Given the description of an element on the screen output the (x, y) to click on. 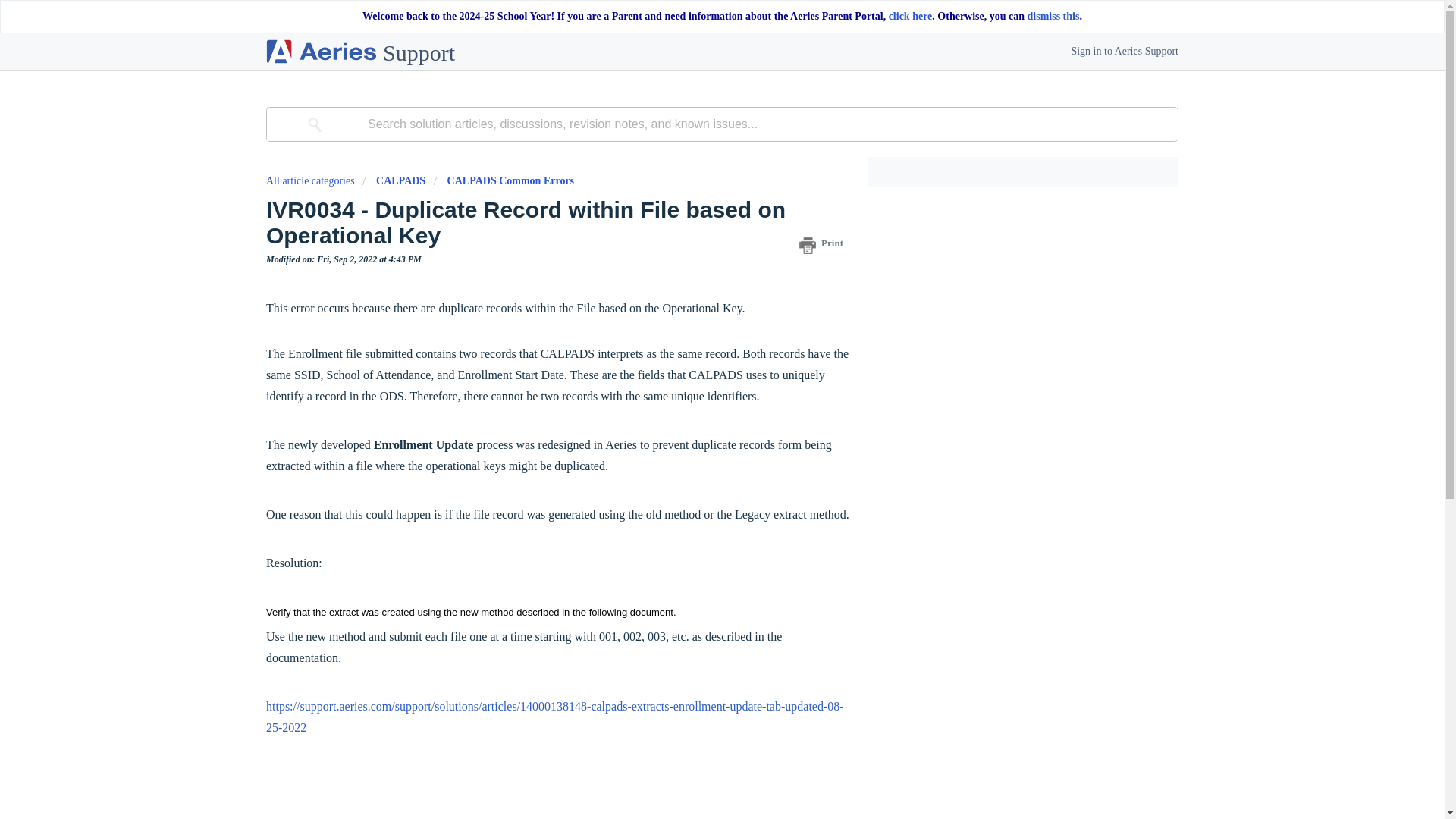
Support (360, 51)
dismiss this (1053, 16)
Print this Article (824, 243)
All article categories (311, 180)
Sign in to Aeries Support (1123, 51)
CALPADS Common Errors (509, 180)
click here (910, 16)
CALPADS (400, 180)
Print (824, 243)
